Given the description of an element on the screen output the (x, y) to click on. 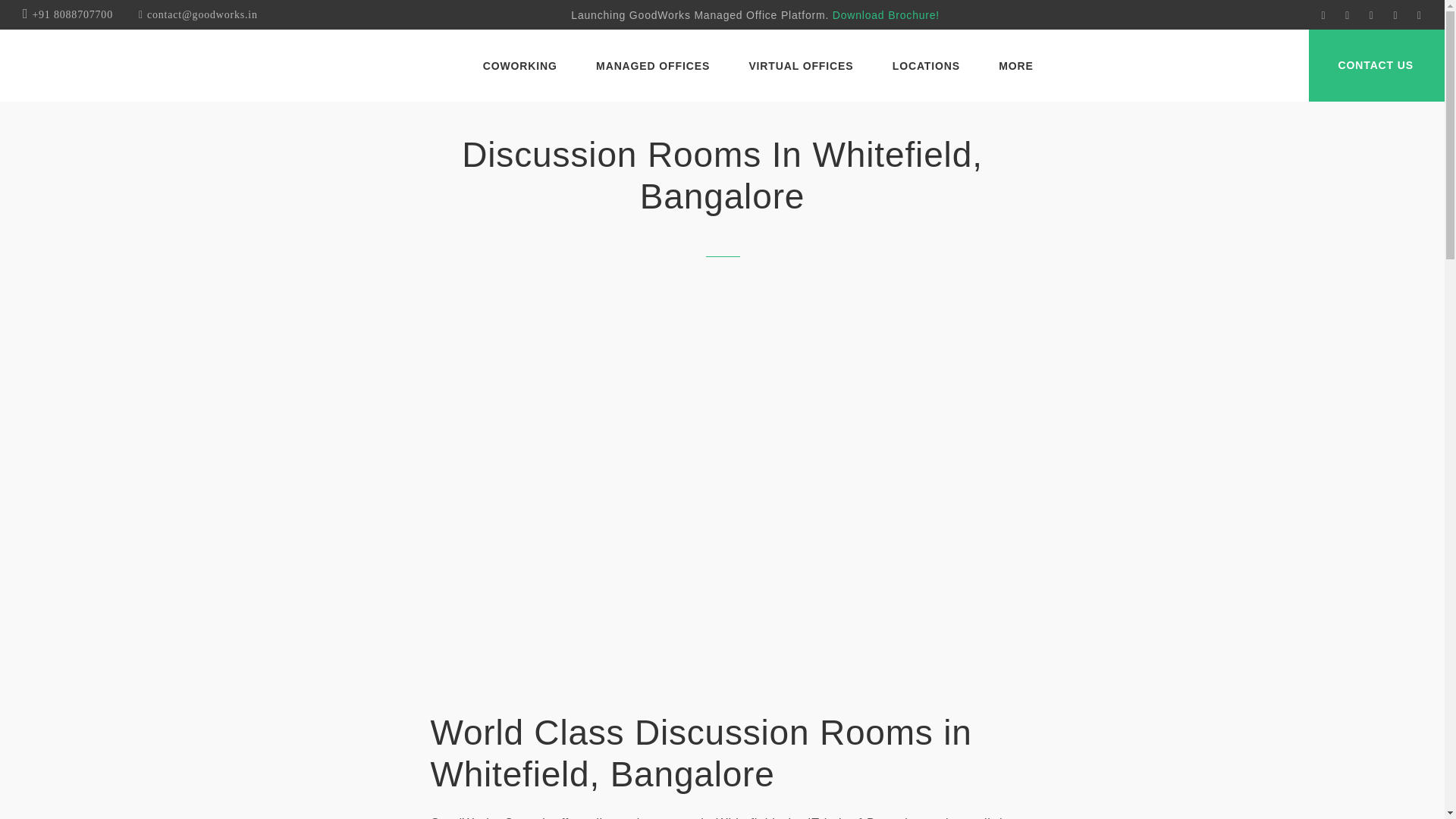
MANAGED OFFICES (652, 66)
COWORKING (520, 66)
Download Brochure! (885, 15)
